Given the description of an element on the screen output the (x, y) to click on. 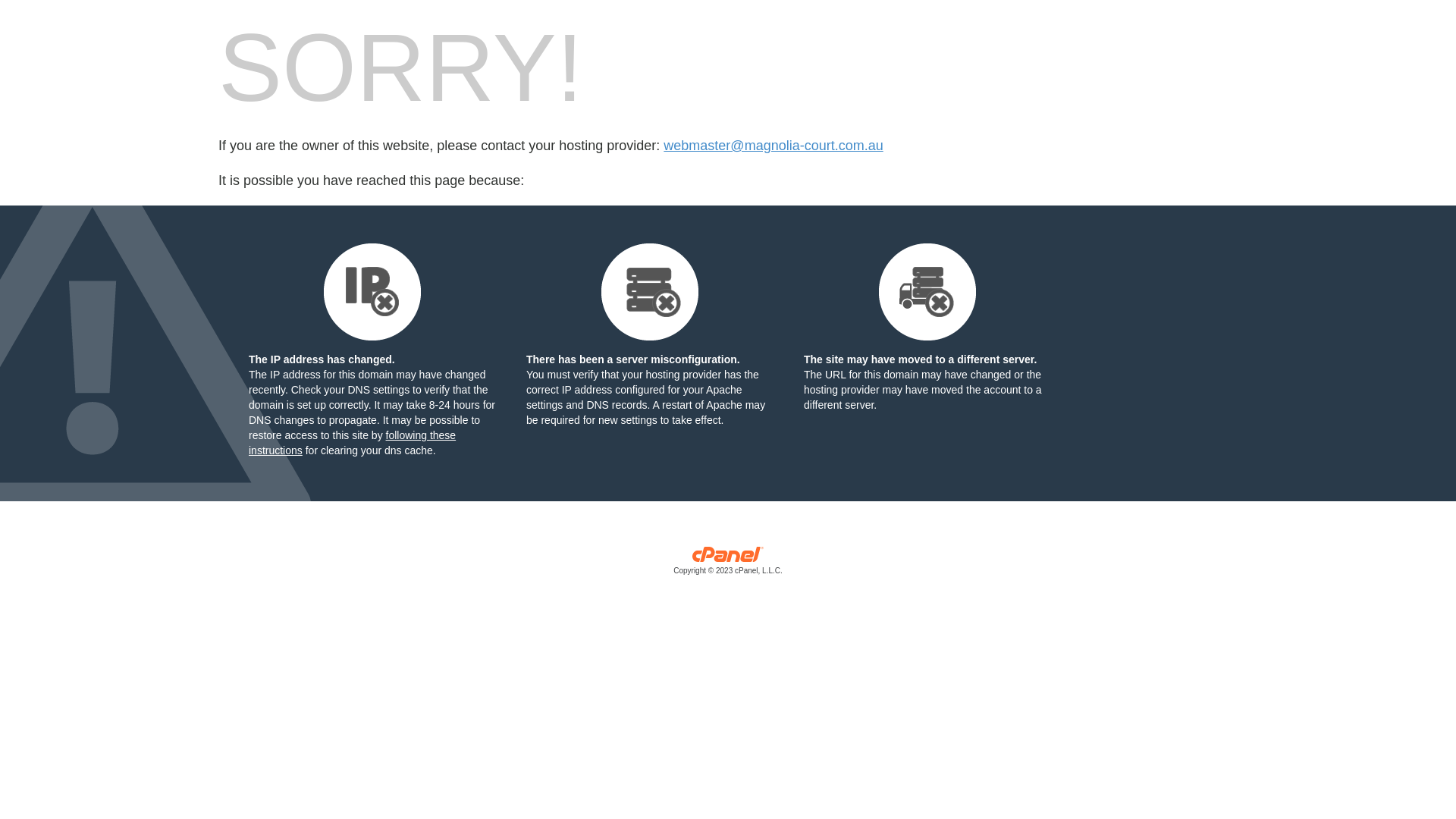
webmaster@magnolia-court.com.au Element type: text (772, 145)
following these instructions Element type: text (351, 442)
